Given the description of an element on the screen output the (x, y) to click on. 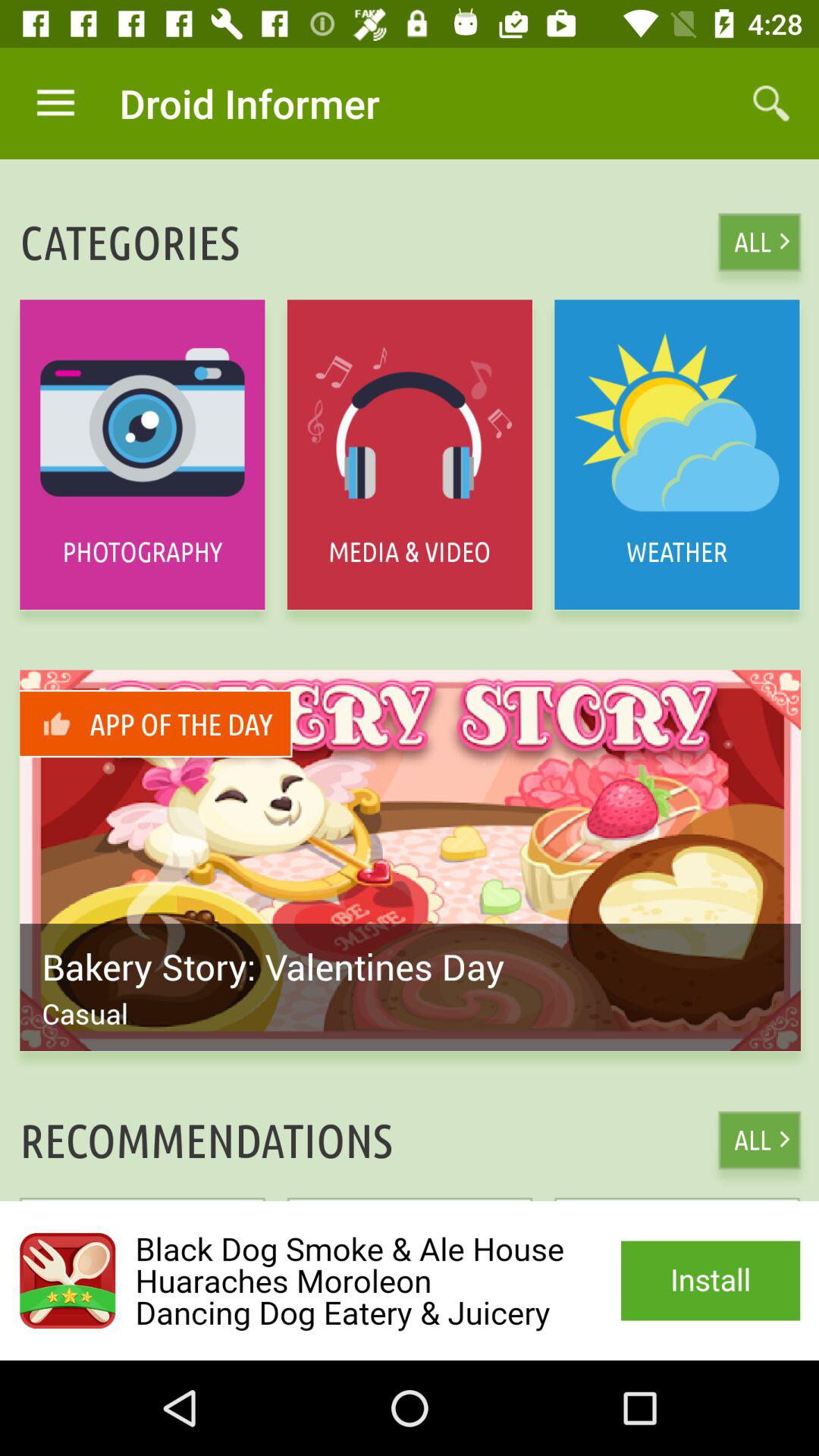
advertisement (409, 1280)
